Given the description of an element on the screen output the (x, y) to click on. 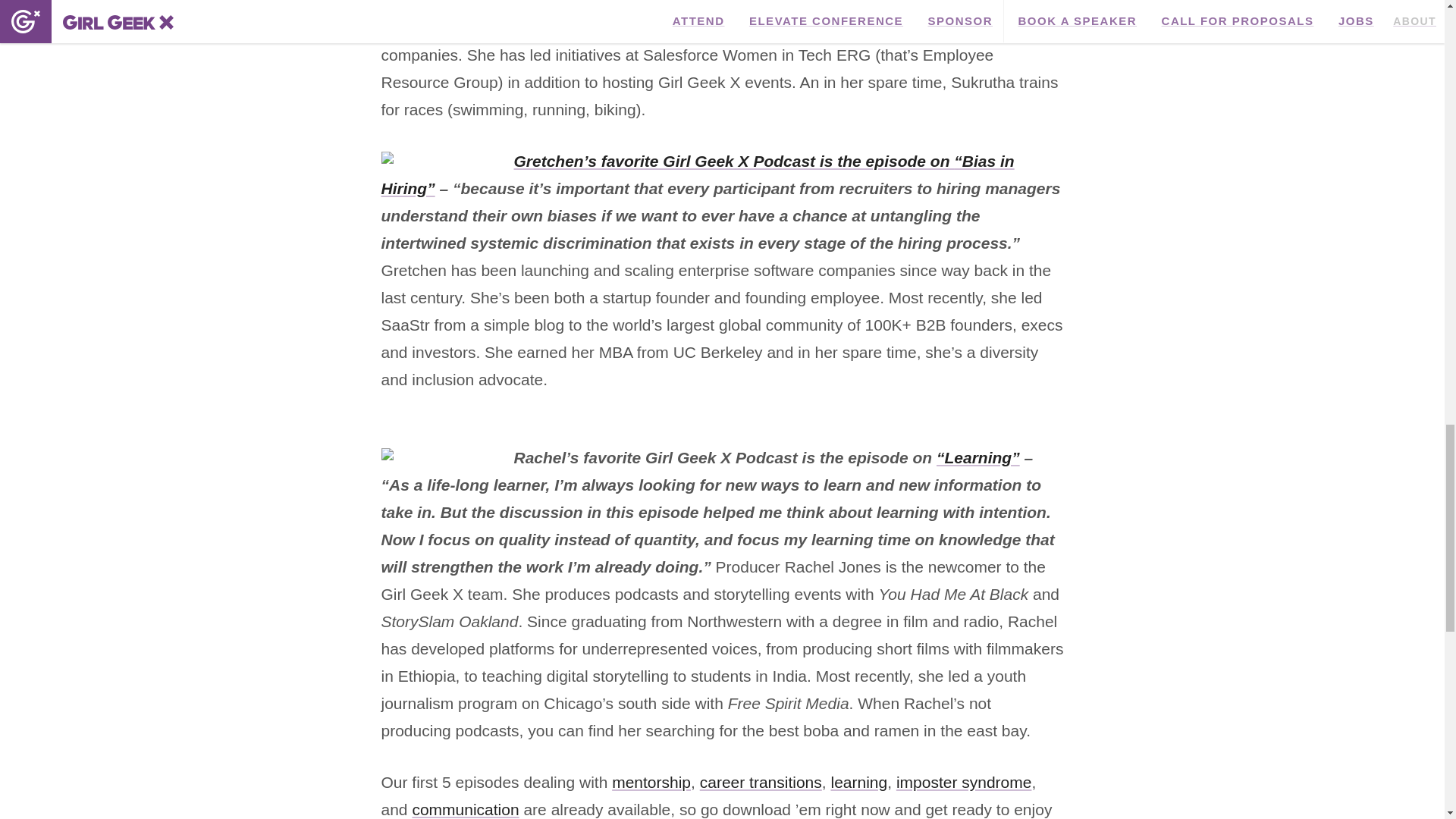
learning (857, 782)
imposter syndrome (964, 782)
career transitions (761, 782)
communication (465, 809)
mentorship (650, 782)
